Given the description of an element on the screen output the (x, y) to click on. 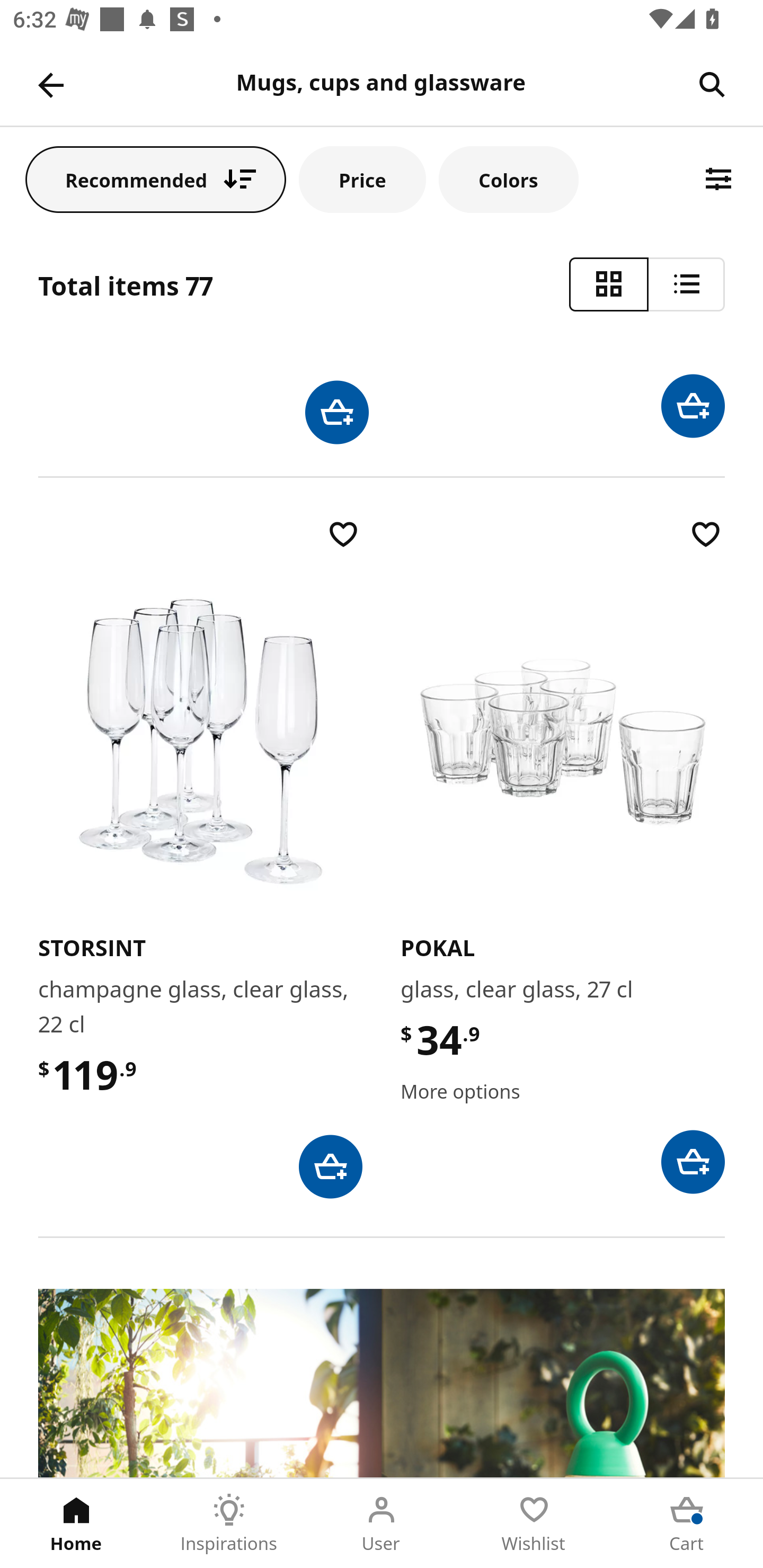
Recommended (155, 179)
Price (362, 179)
Colors (508, 179)
Home
Tab 1 of 5 (76, 1522)
Inspirations
Tab 2 of 5 (228, 1522)
User
Tab 3 of 5 (381, 1522)
Wishlist
Tab 4 of 5 (533, 1522)
Cart
Tab 5 of 5 (686, 1522)
